Given the description of an element on the screen output the (x, y) to click on. 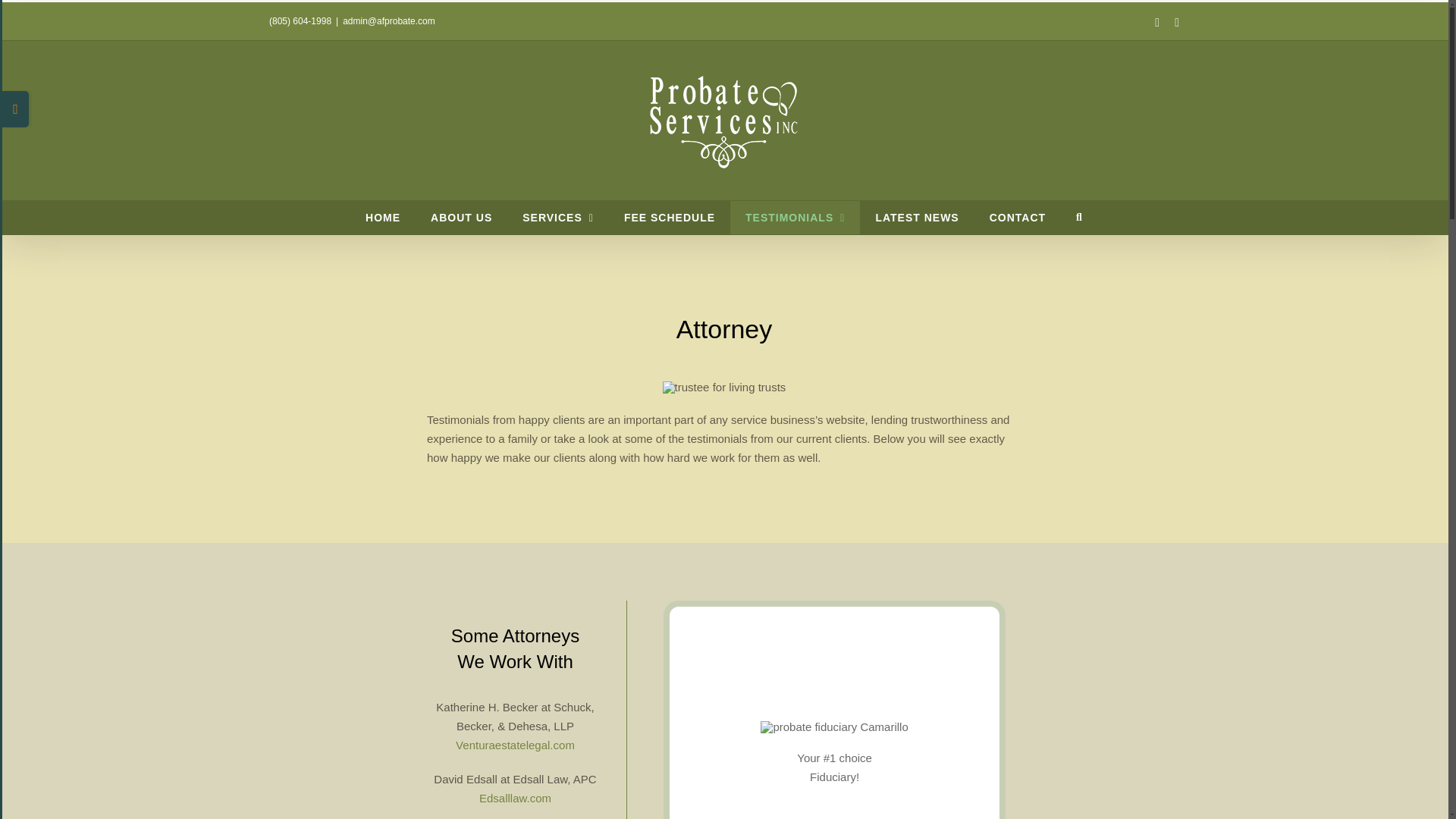
ABOUT US (460, 217)
Search (1079, 217)
swiral graphics green (724, 387)
TESTIMONIALS (795, 217)
CONTACT (1017, 217)
HOME (382, 217)
probate services logo (833, 727)
LATEST NEWS (917, 217)
FEE SCHEDULE (669, 217)
SERVICES (557, 217)
